Given the description of an element on the screen output the (x, y) to click on. 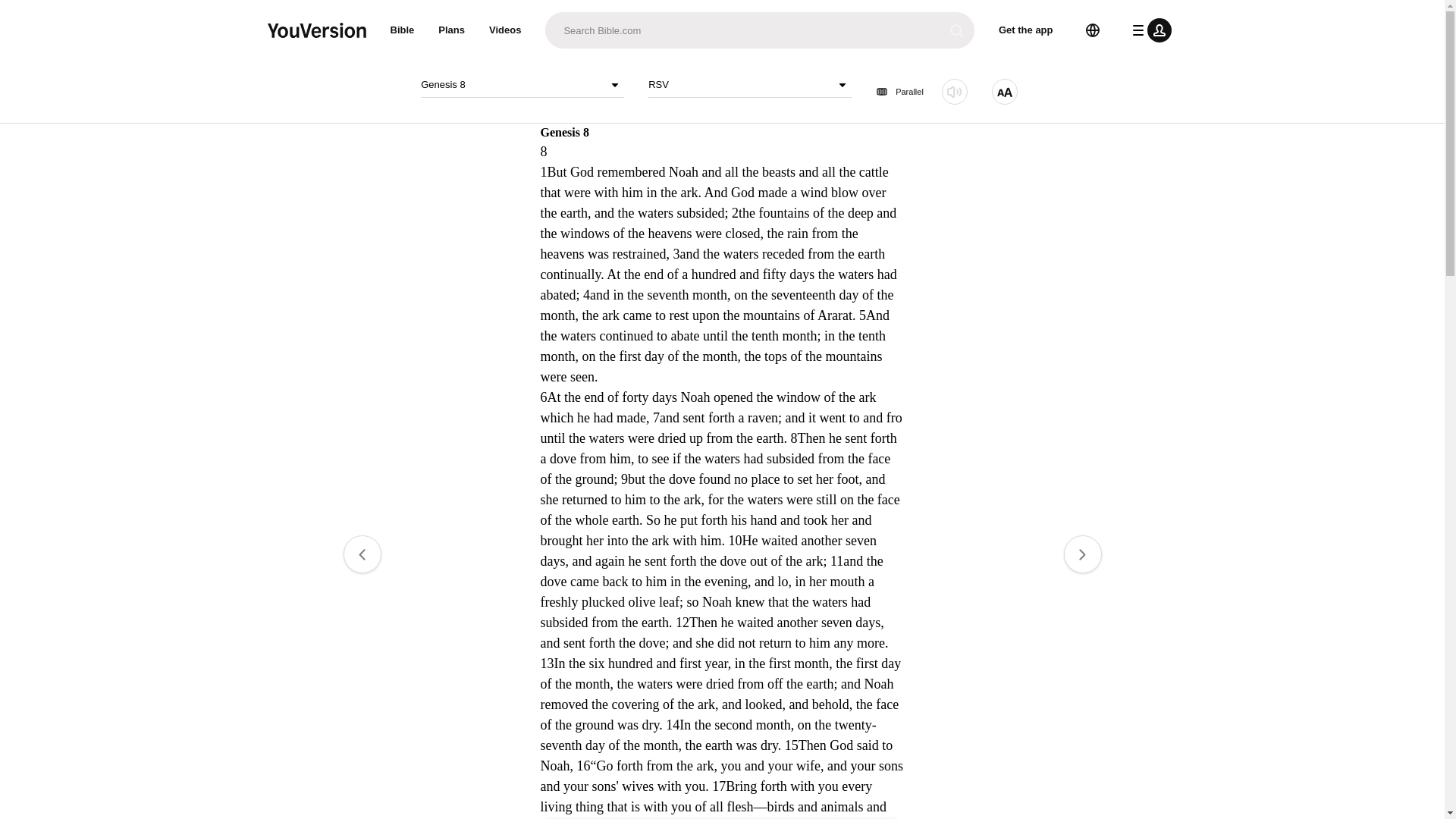
Plans (451, 29)
Parallel (899, 91)
RSV (749, 84)
Bible (401, 29)
Genesis 8 (522, 84)
Get the app (1026, 29)
Videos (504, 29)
